Given the description of an element on the screen output the (x, y) to click on. 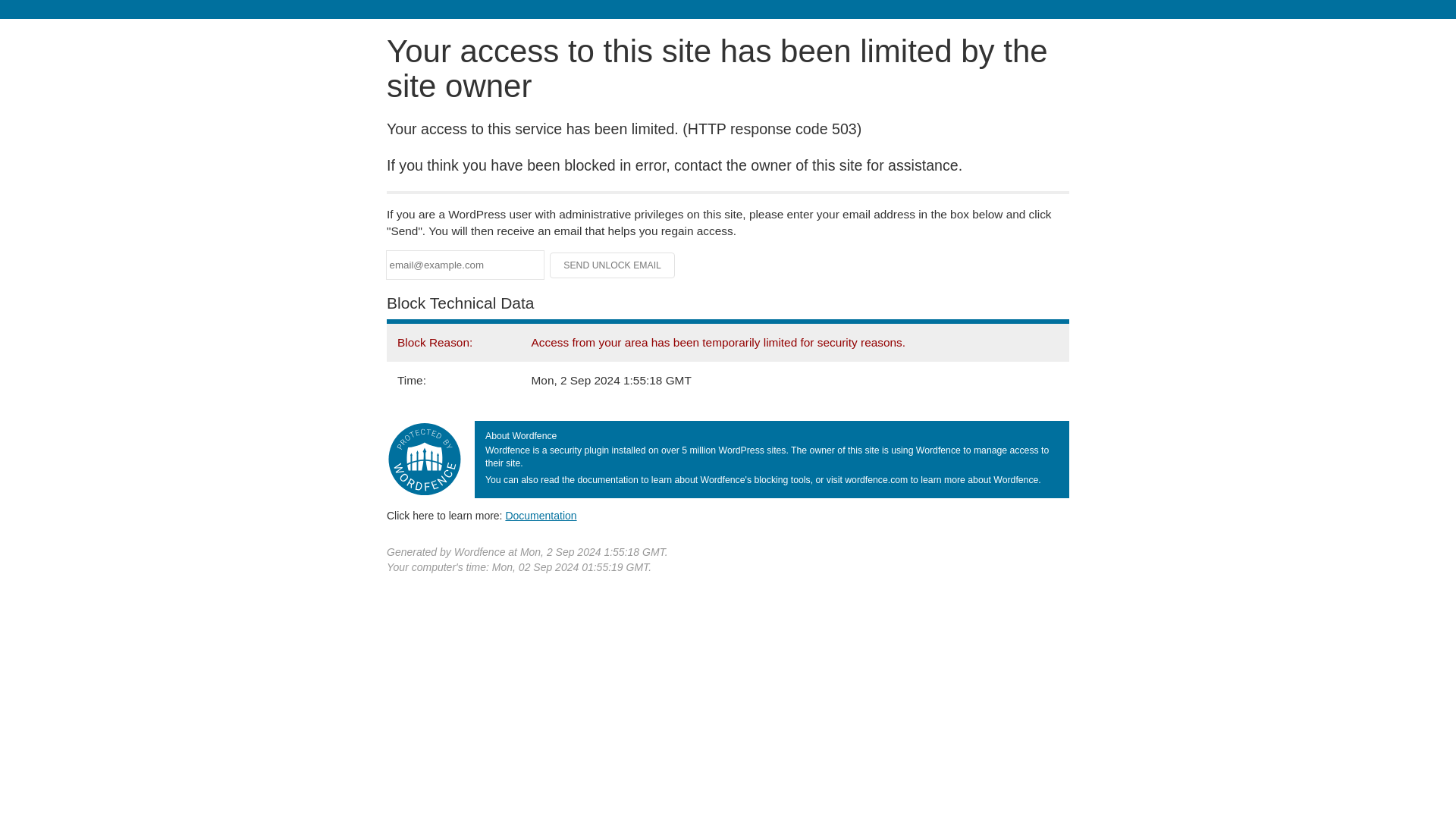
Documentation (540, 515)
Send Unlock Email (612, 265)
Send Unlock Email (612, 265)
